Given the description of an element on the screen output the (x, y) to click on. 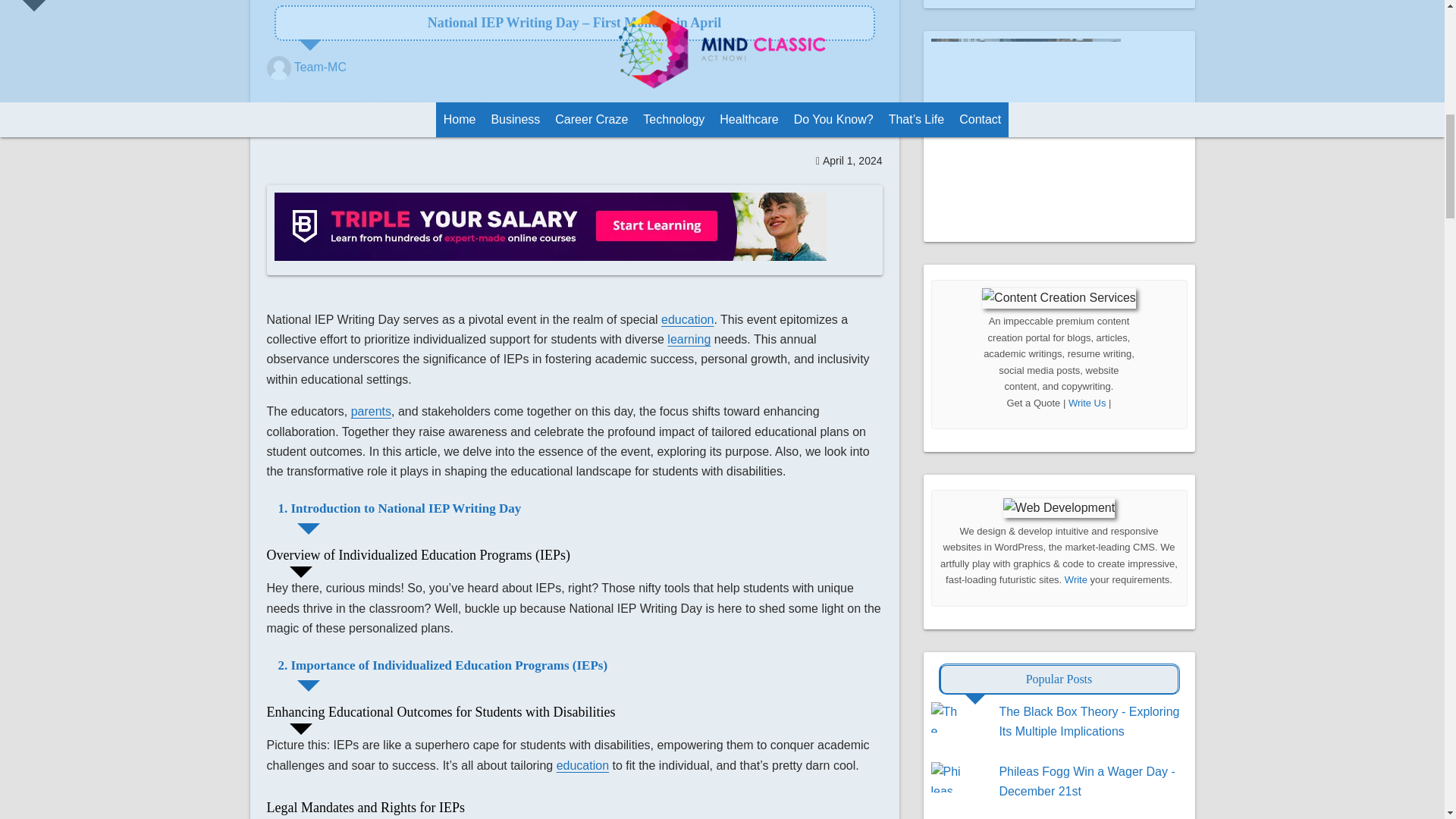
Events (400, 116)
Team-MC (320, 66)
Society (457, 116)
The Black Box Theory - Exploring Its Multiple Implications (1088, 721)
Do You Know? (325, 116)
Phileas Fogg Win a Wager Day - December 21st (1086, 780)
